Given the description of an element on the screen output the (x, y) to click on. 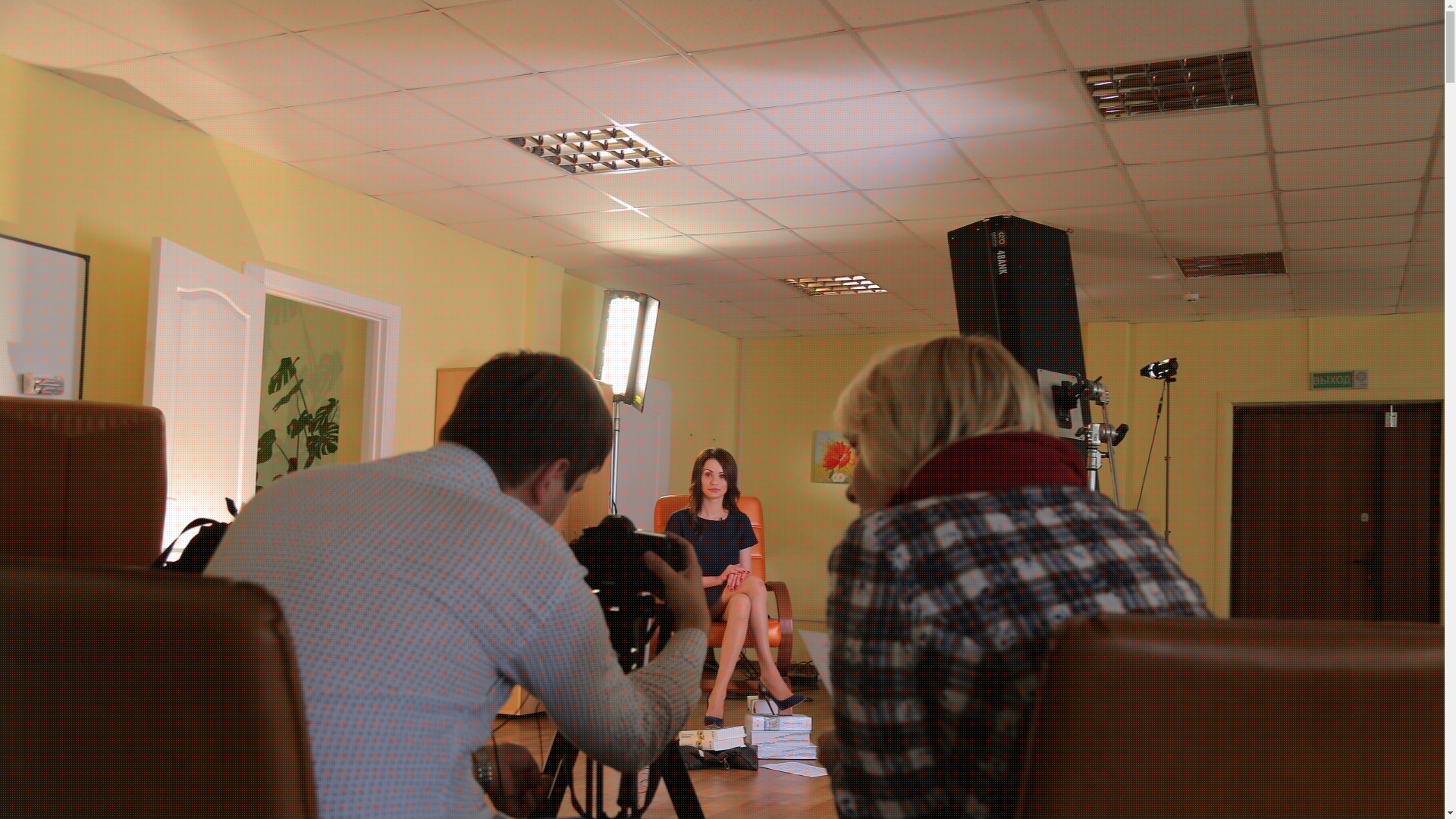
Skip to content Element type: text (0, 0)
